Given the description of an element on the screen output the (x, y) to click on. 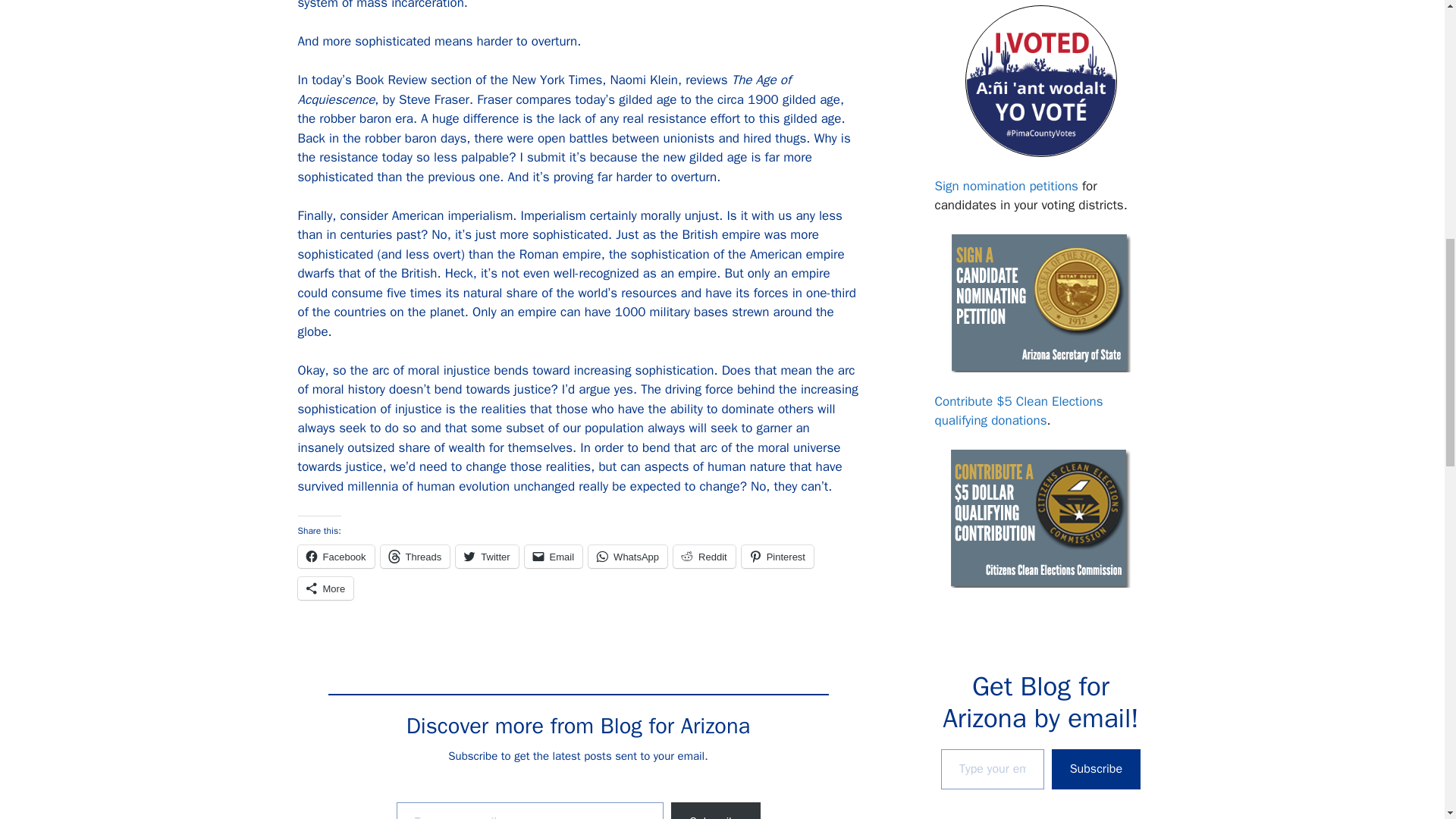
Click to share on Threads (414, 556)
Facebook (335, 556)
Click to share on Pinterest (777, 556)
Click to share on Reddit (703, 556)
Click to share on Facebook (335, 556)
Click to share on WhatsApp (627, 556)
Click to email a link to a friend (553, 556)
Click to share on Twitter (486, 556)
